Given the description of an element on the screen output the (x, y) to click on. 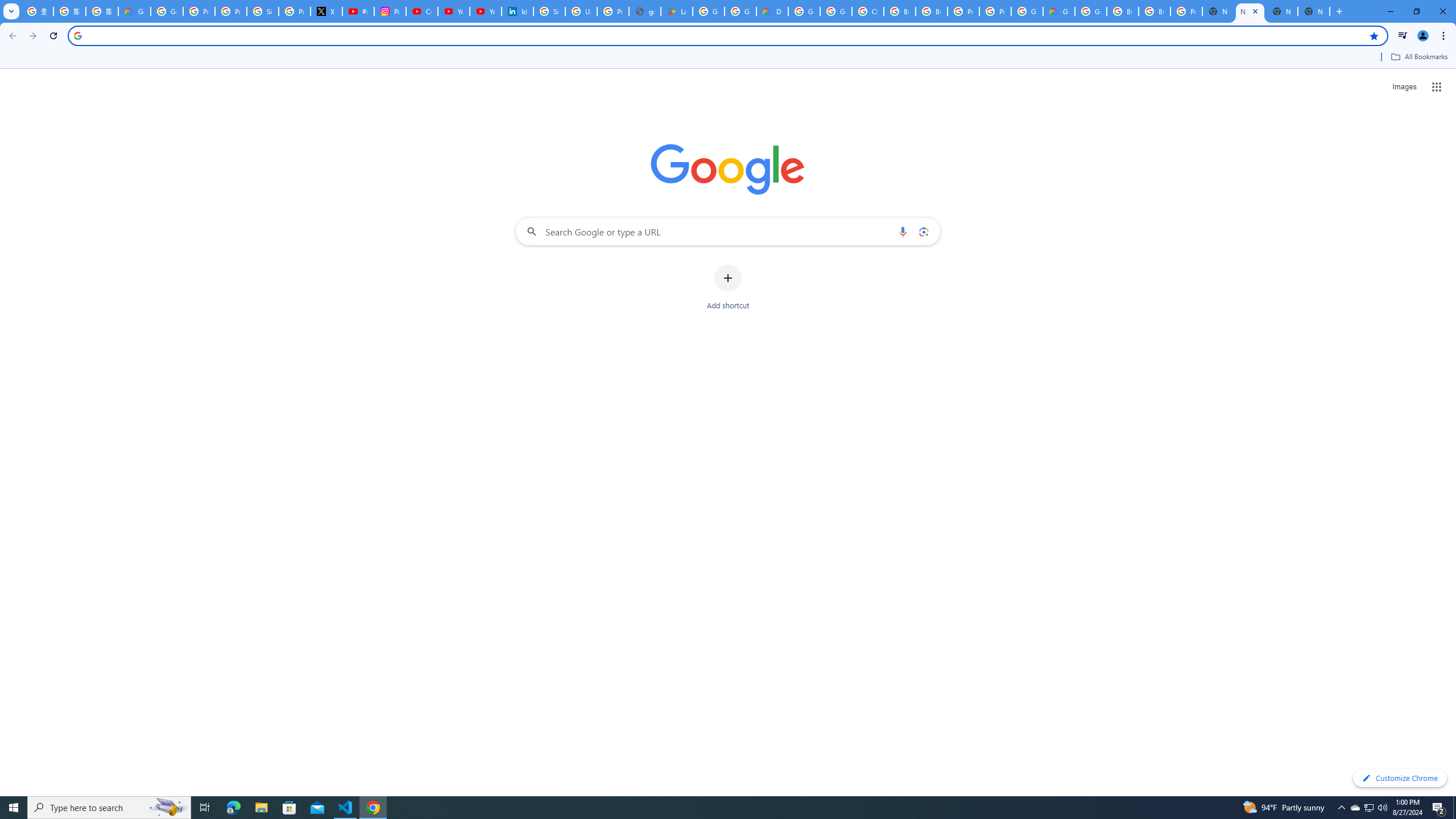
Sign in - Google Accounts (549, 11)
New Tab (1313, 11)
Google Cloud Privacy Notice (134, 11)
Bookmarks (728, 58)
X (326, 11)
Google Cloud Platform (1027, 11)
